Given the description of an element on the screen output the (x, y) to click on. 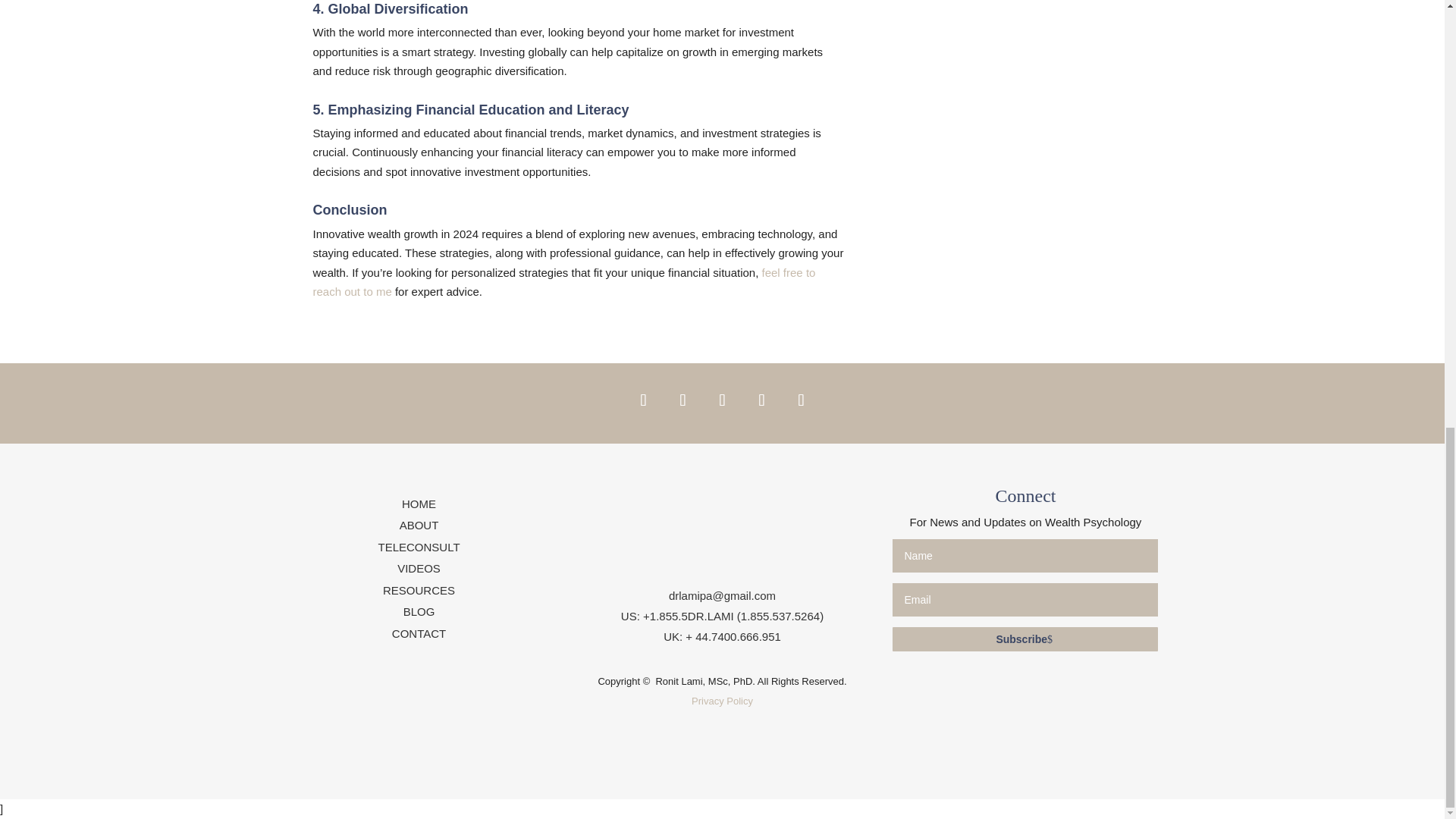
Follow on X (681, 400)
Follow on Youtube (800, 400)
Follow on Facebook (642, 400)
Follow on LinkedIn (760, 400)
Follow on Instagram (721, 400)
